Given the description of an element on the screen output the (x, y) to click on. 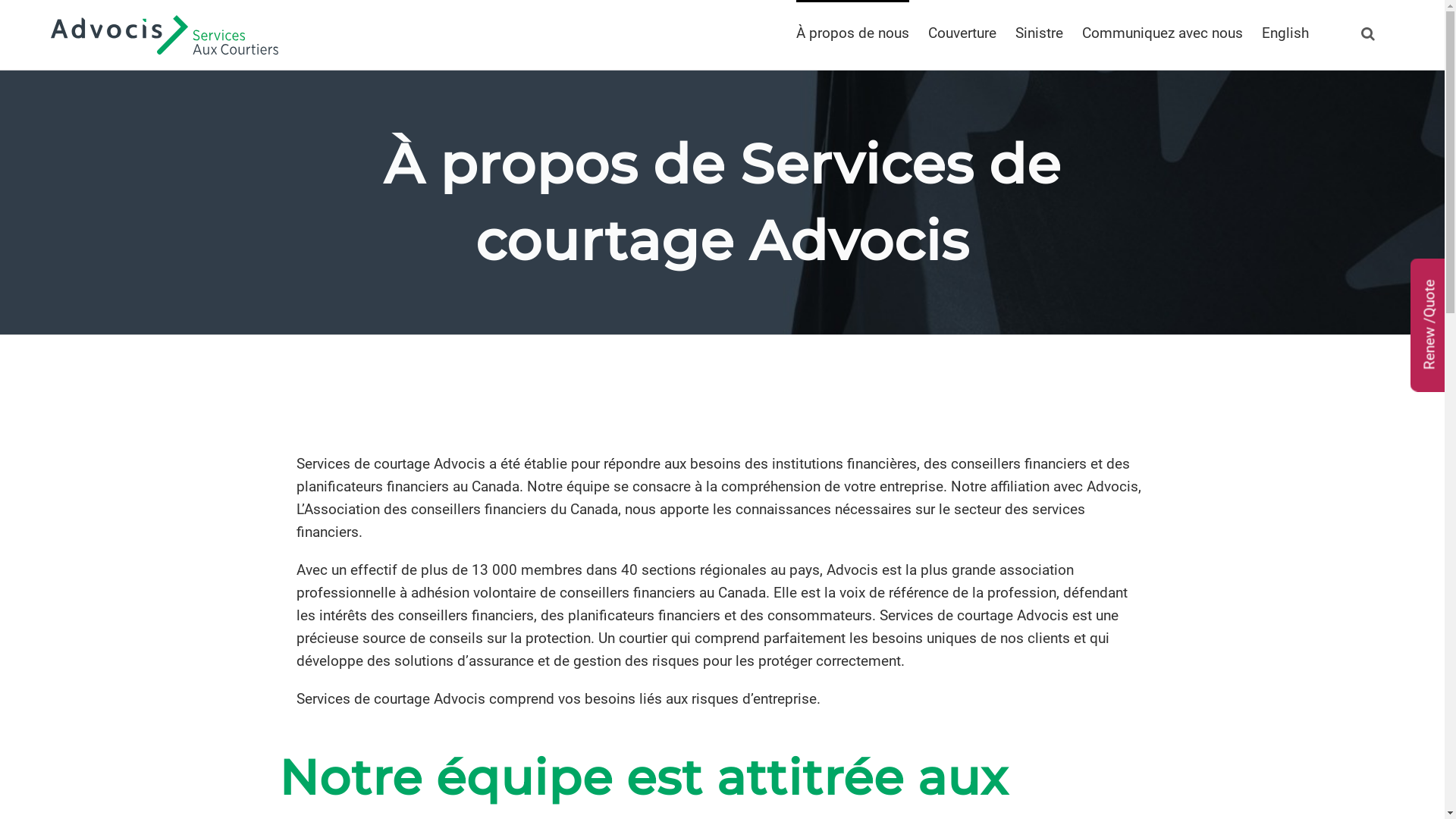
Sinistre Element type: text (1039, 31)
English Element type: text (1284, 31)
Couverture Element type: text (962, 31)
Recherche Element type: hover (1367, 31)
Communiquez avec nous Element type: text (1162, 31)
